Given the description of an element on the screen output the (x, y) to click on. 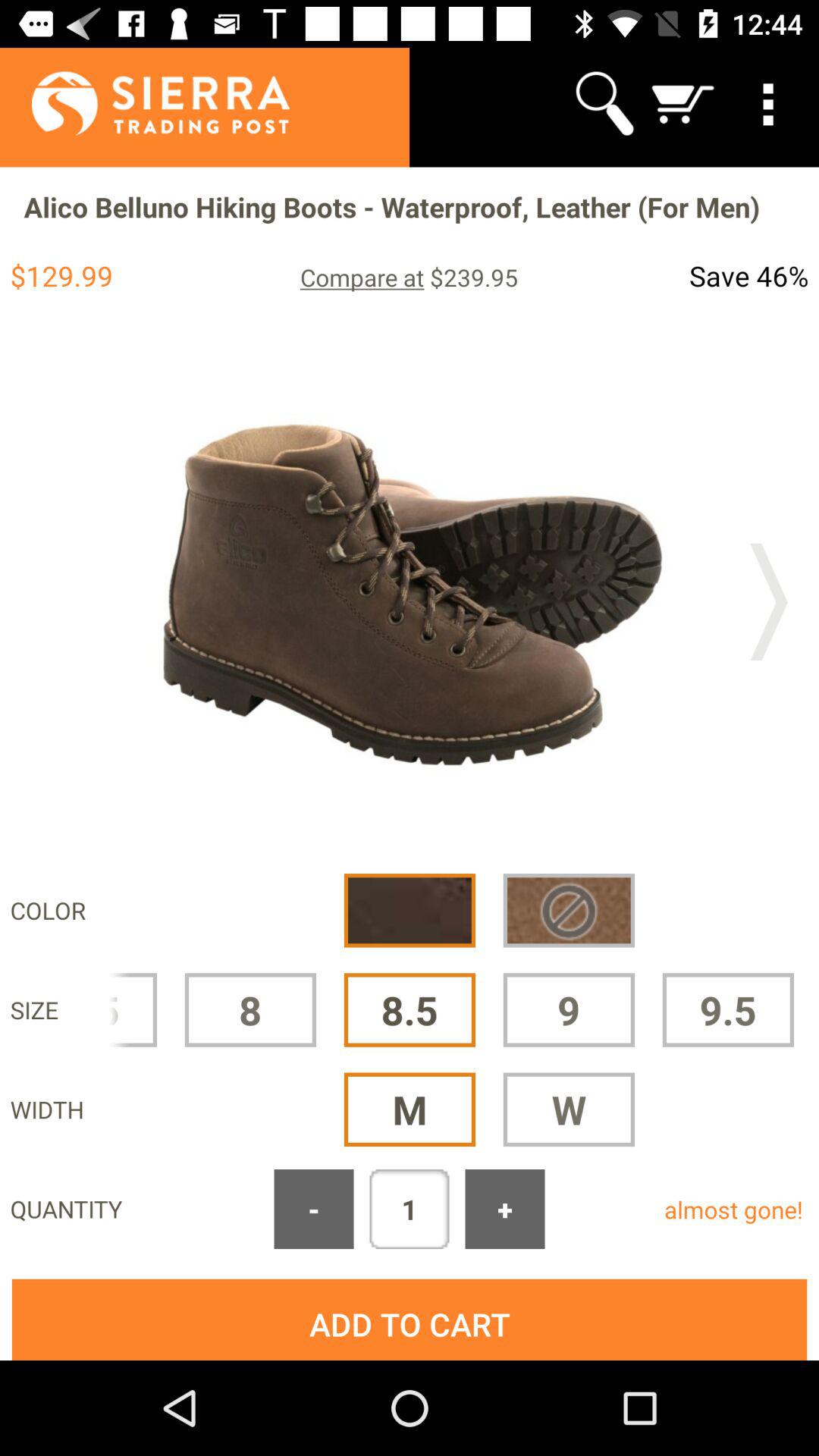
choose add to cart button (409, 1319)
